Given the description of an element on the screen output the (x, y) to click on. 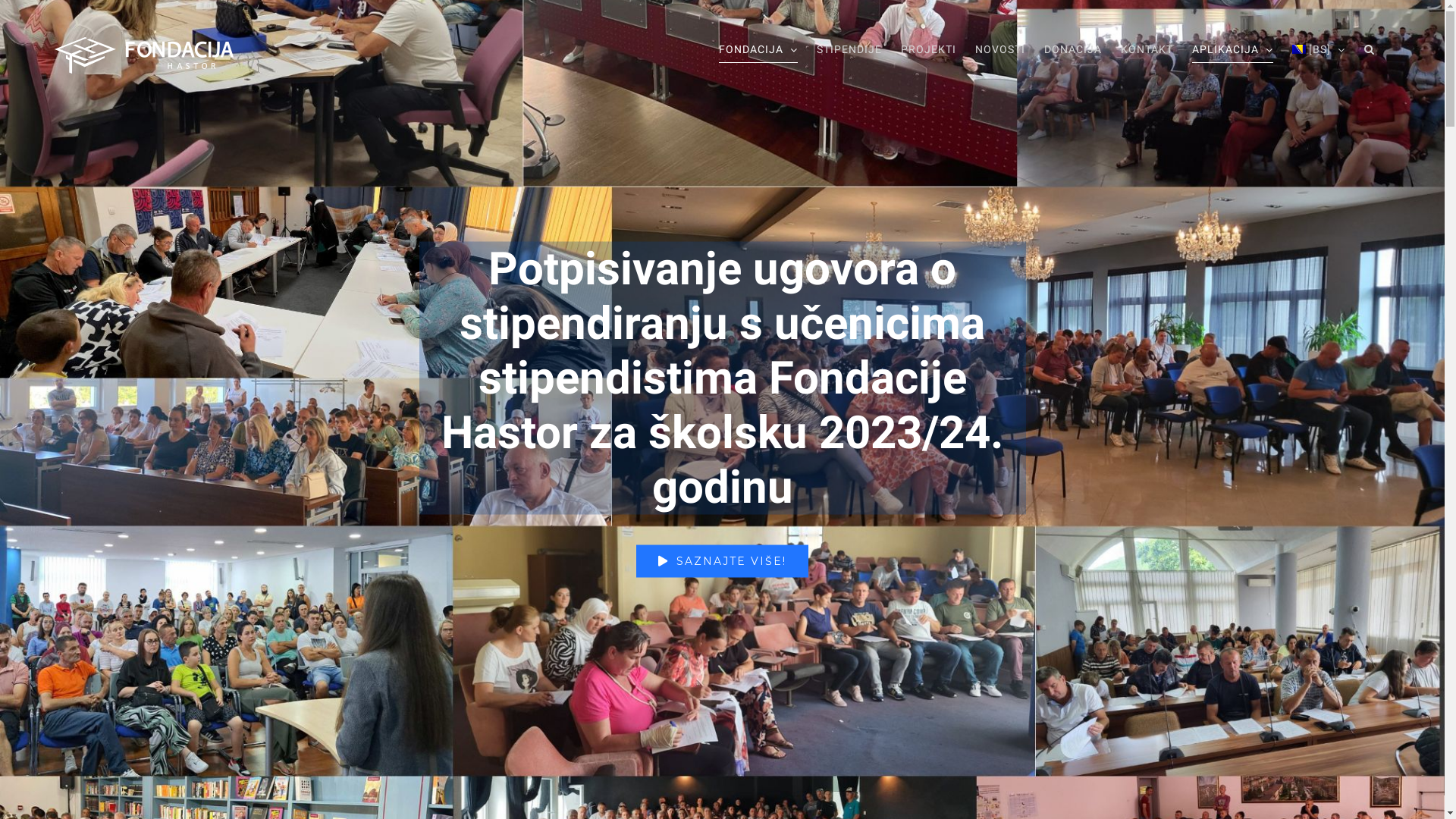
Search Element type: hover (1369, 48)
PROJEKTI Element type: text (928, 48)
DONACIJA Element type: text (1072, 48)
FONDACIJA Element type: text (757, 48)
STIPENDIJE Element type: text (848, 48)
KONTAKT Element type: text (1146, 48)
[BS] Element type: text (1318, 48)
NOVOSTI Element type: text (1000, 48)
APLIKACIJA Element type: text (1232, 48)
